Given the description of an element on the screen output the (x, y) to click on. 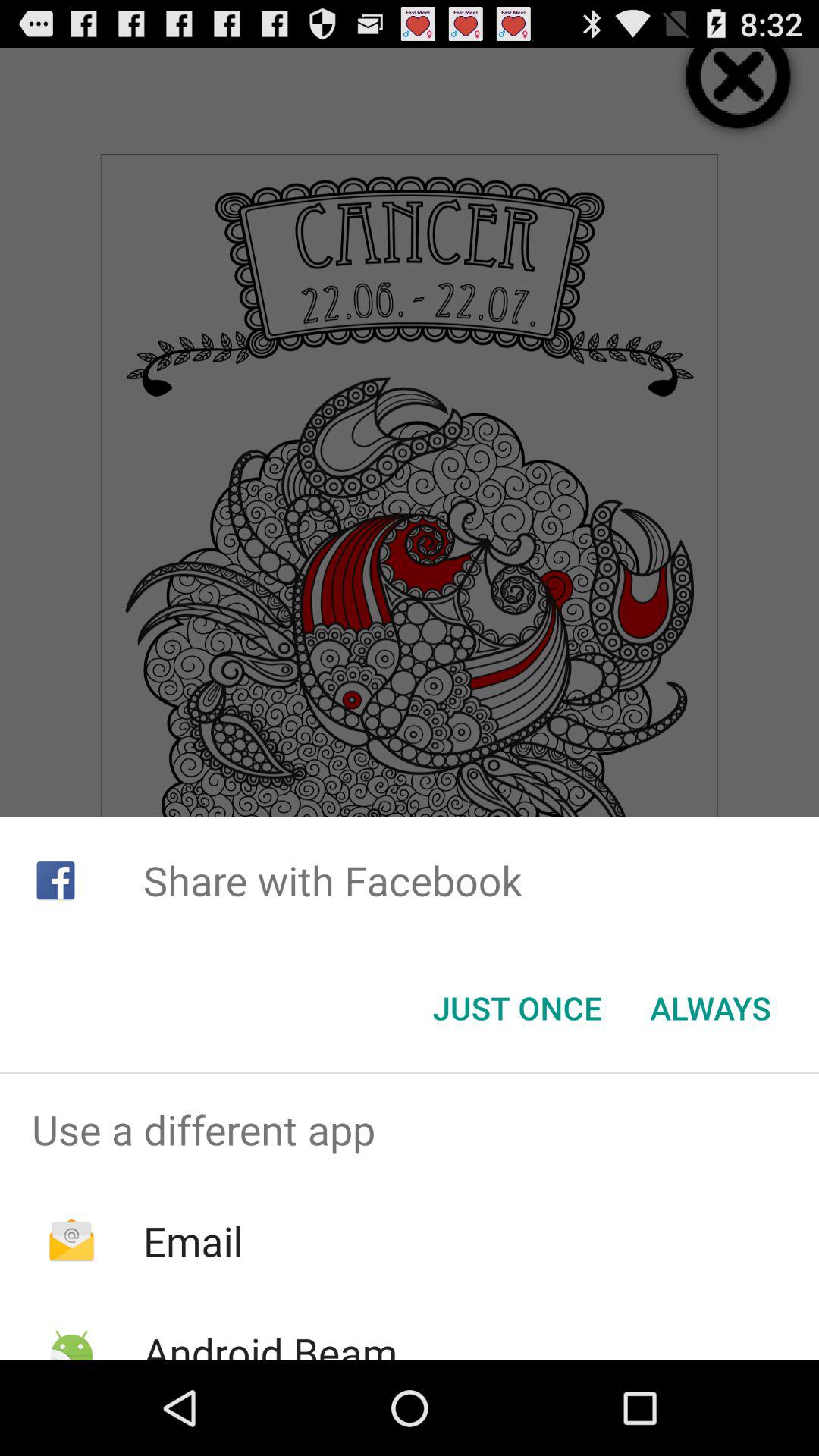
select the item below share with facebook item (710, 1007)
